Given the description of an element on the screen output the (x, y) to click on. 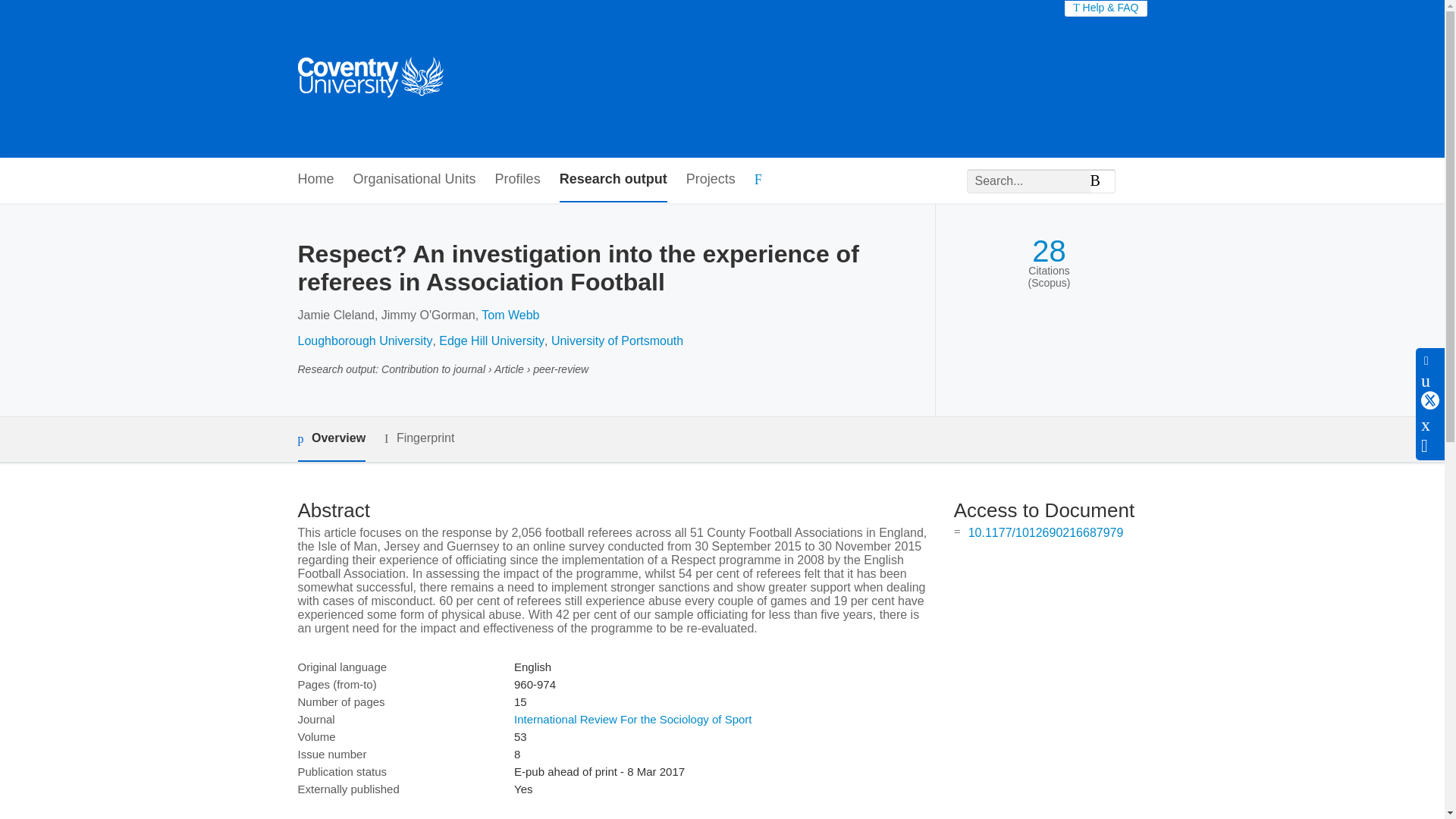
Organisational Units (414, 180)
Overview (331, 438)
Tom Webb (509, 314)
Coventry University Home (369, 78)
Loughborough University (364, 340)
28 (1048, 251)
International Review For the Sociology of Sport (632, 718)
University of Portsmouth (616, 340)
Fingerprint (419, 438)
Projects (710, 180)
Research output (612, 180)
Profiles (517, 180)
Edge Hill University (491, 340)
